Given the description of an element on the screen output the (x, y) to click on. 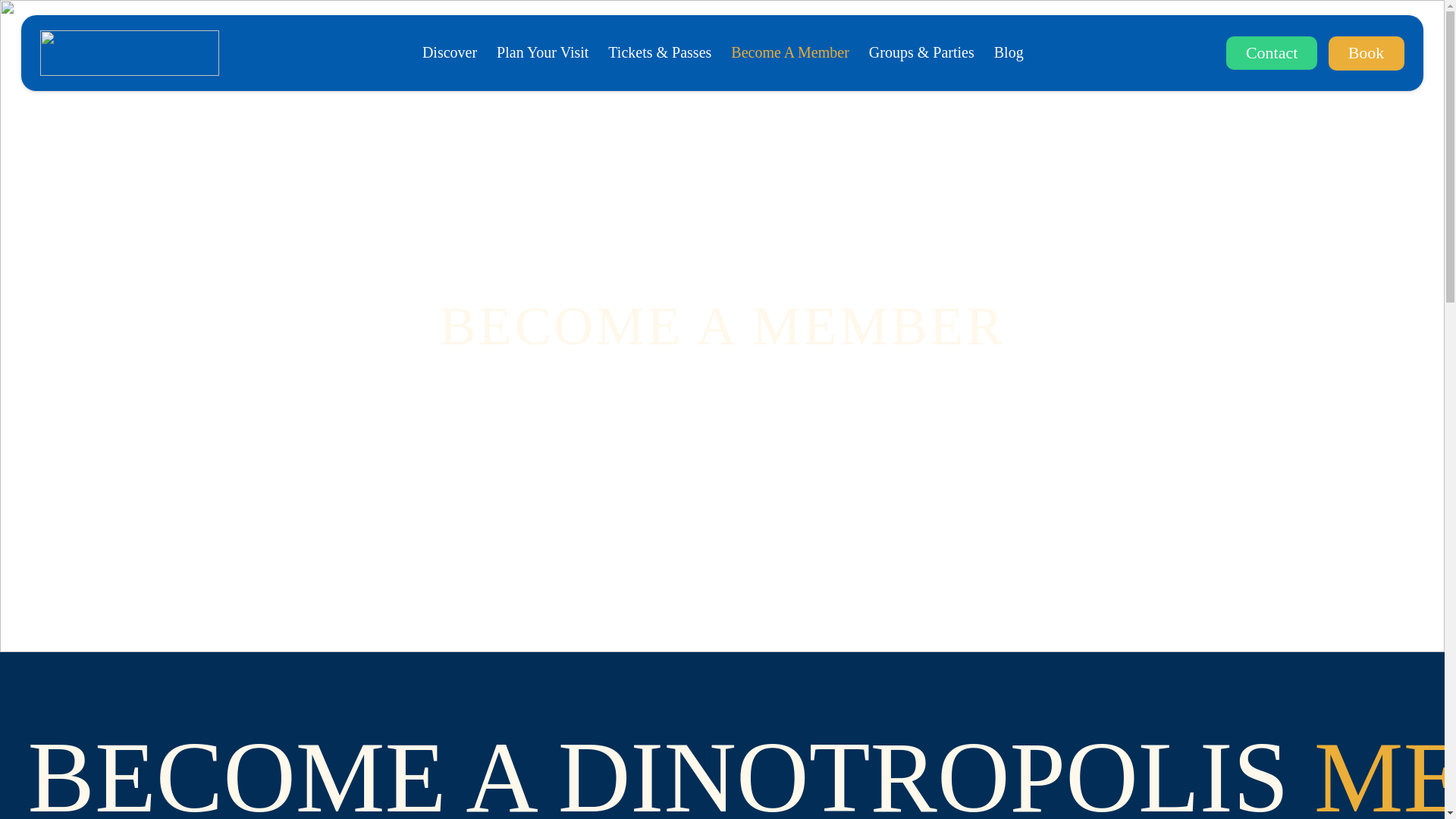
Discover (449, 52)
Become A Member (789, 52)
Plan Your Visit (542, 52)
Book (1366, 53)
Blog (1008, 52)
Contact (1271, 53)
